Given the description of an element on the screen output the (x, y) to click on. 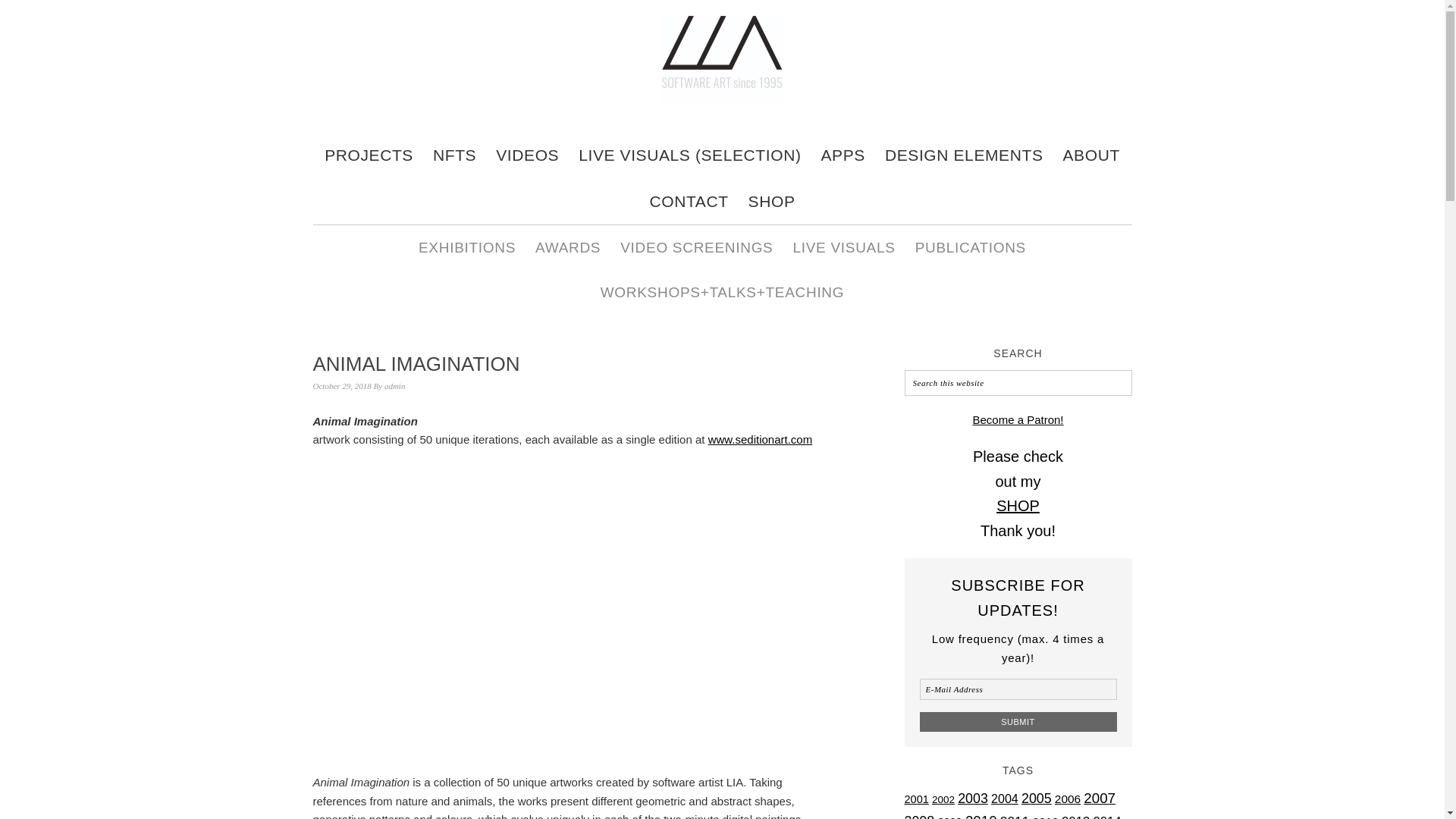
DESIGN ELEMENTS (964, 154)
ABOUT (1091, 154)
Submit (1017, 721)
PROJECTS (368, 154)
SHOP (1017, 505)
AWARDS (567, 247)
LIA (722, 106)
APPS (843, 154)
